Given the description of an element on the screen output the (x, y) to click on. 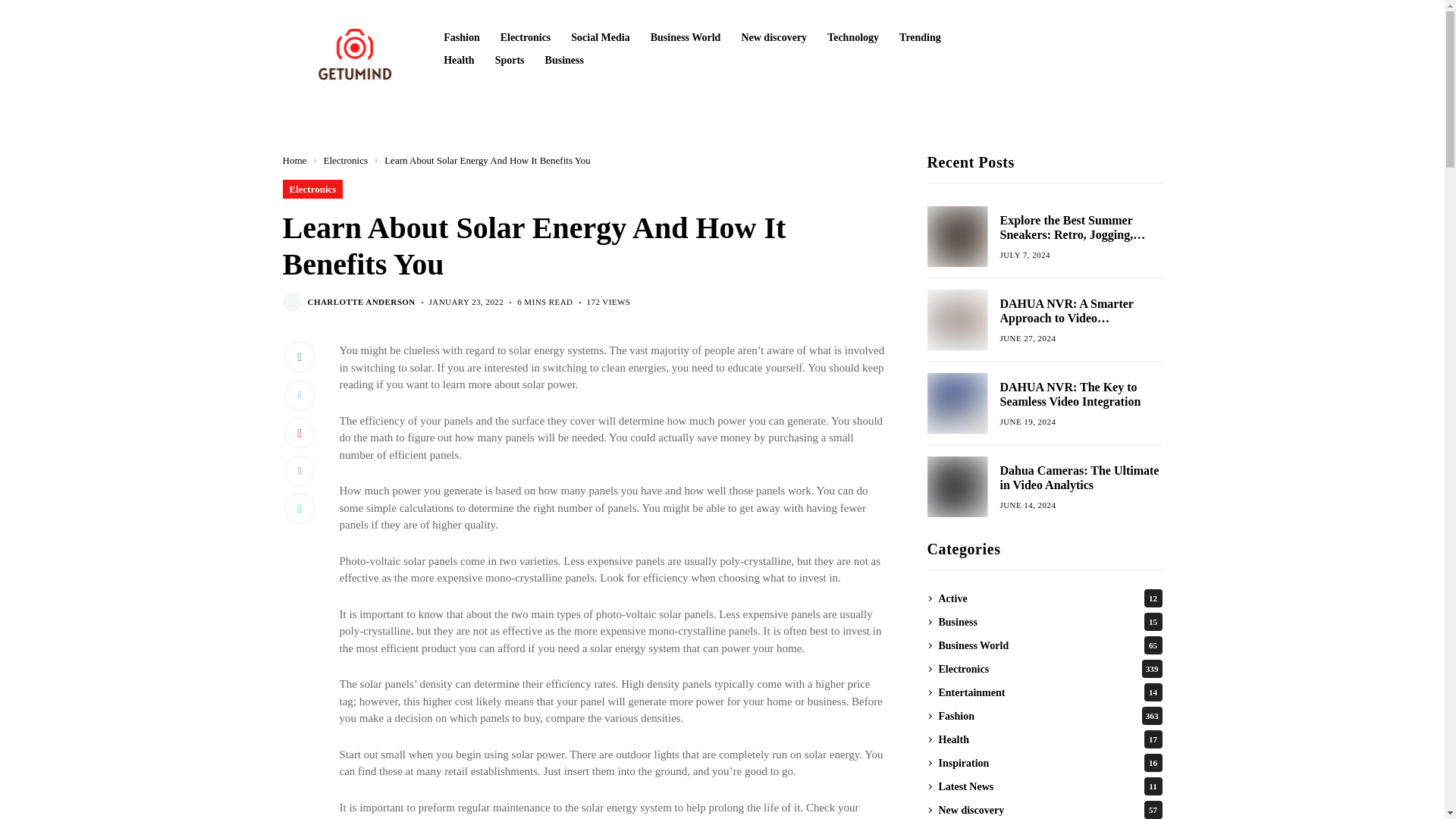
Health (459, 60)
Business (563, 60)
Sports (509, 60)
Electronics (312, 189)
DAHUA NVR: The Key to Seamless Video Integration (956, 403)
Technology (853, 37)
Home (293, 160)
DAHUA NVR: A Smarter Approach to Video Surveillance (956, 319)
Social Media (599, 37)
Trending (919, 37)
Electronics (525, 37)
Dahua Cameras: The Ultimate in Video Analytics (956, 486)
CHARLOTTE ANDERSON (360, 302)
Business World (685, 37)
Fashion (461, 37)
